Given the description of an element on the screen output the (x, y) to click on. 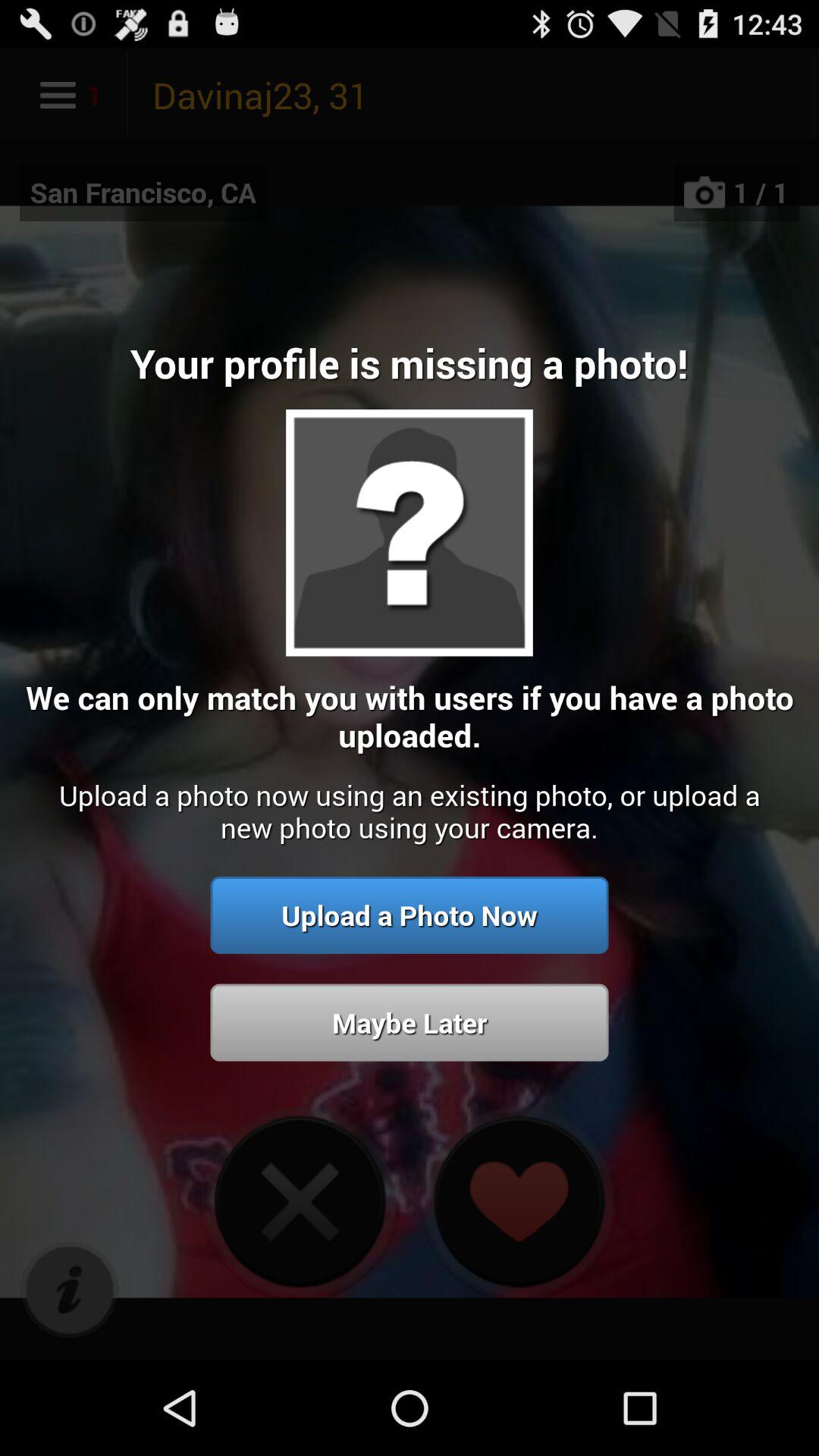
information button (69, 1290)
